Given the description of an element on the screen output the (x, y) to click on. 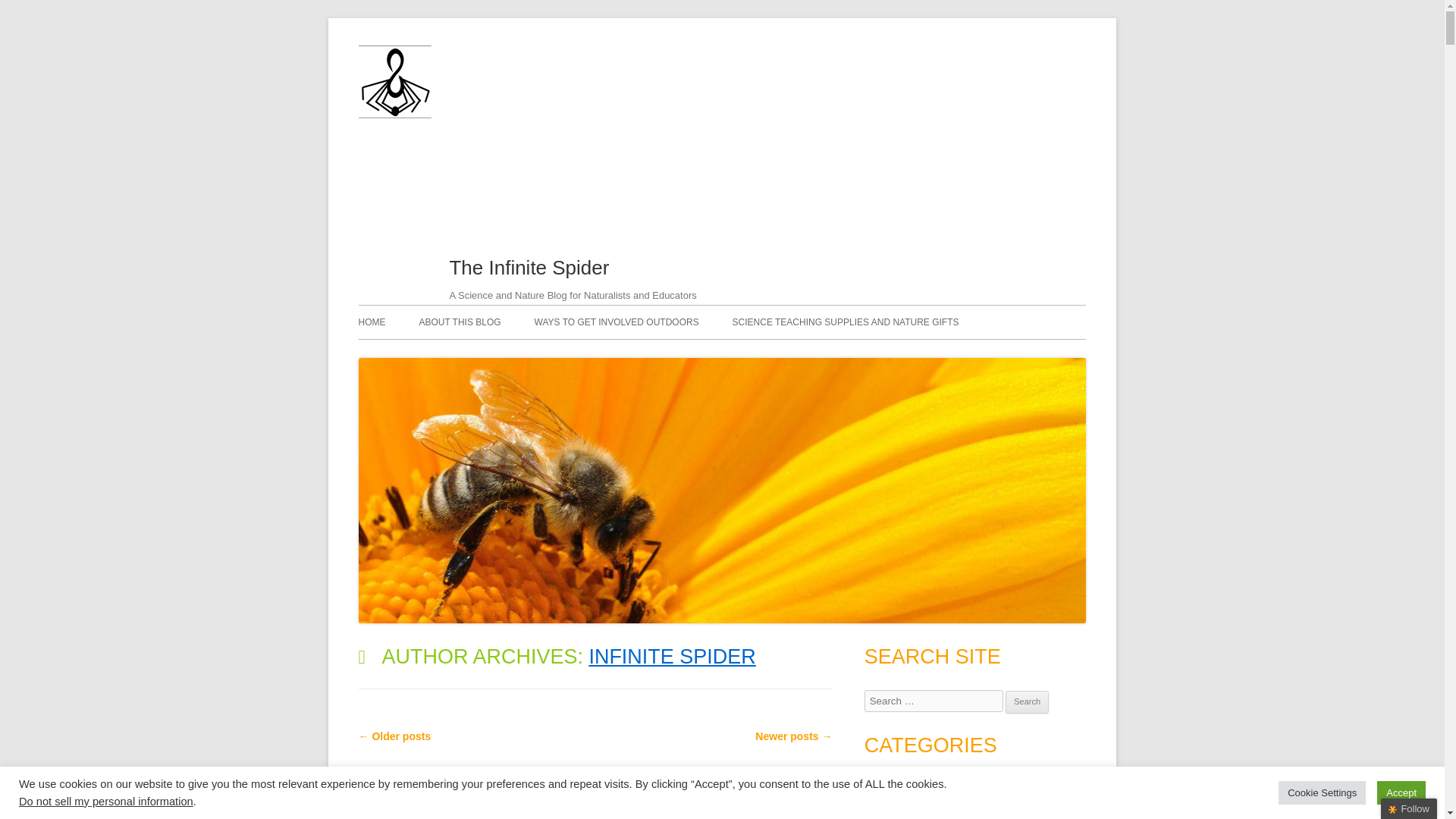
Search (1027, 702)
The Infinite Spider (528, 268)
Advertisement (574, 147)
Search (1027, 702)
SCIENCE TEACHING SUPPLIES AND NATURE GIFTS (845, 322)
WAYS TO GET INVOLVED OUTDOORS (616, 322)
The Infinite Spider (394, 114)
INFINITE SPIDER (671, 656)
